Given the description of an element on the screen output the (x, y) to click on. 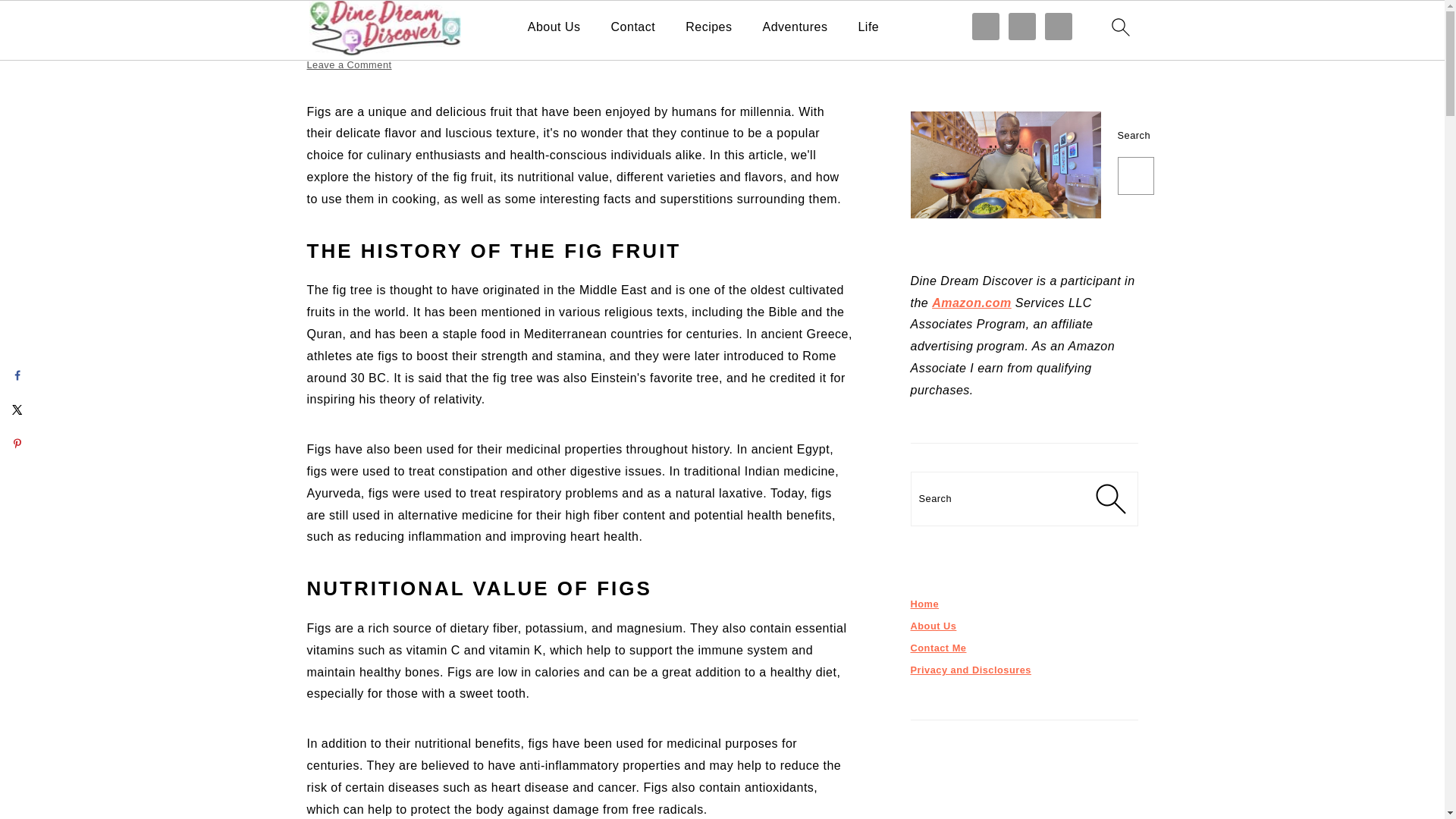
Life (868, 26)
Recipes (708, 26)
About Us (553, 26)
Adventures (795, 26)
Share on Facebook (16, 374)
Share on X (16, 409)
search icon (1119, 26)
Save to Pinterest (16, 442)
Contact (633, 26)
